Given the description of an element on the screen output the (x, y) to click on. 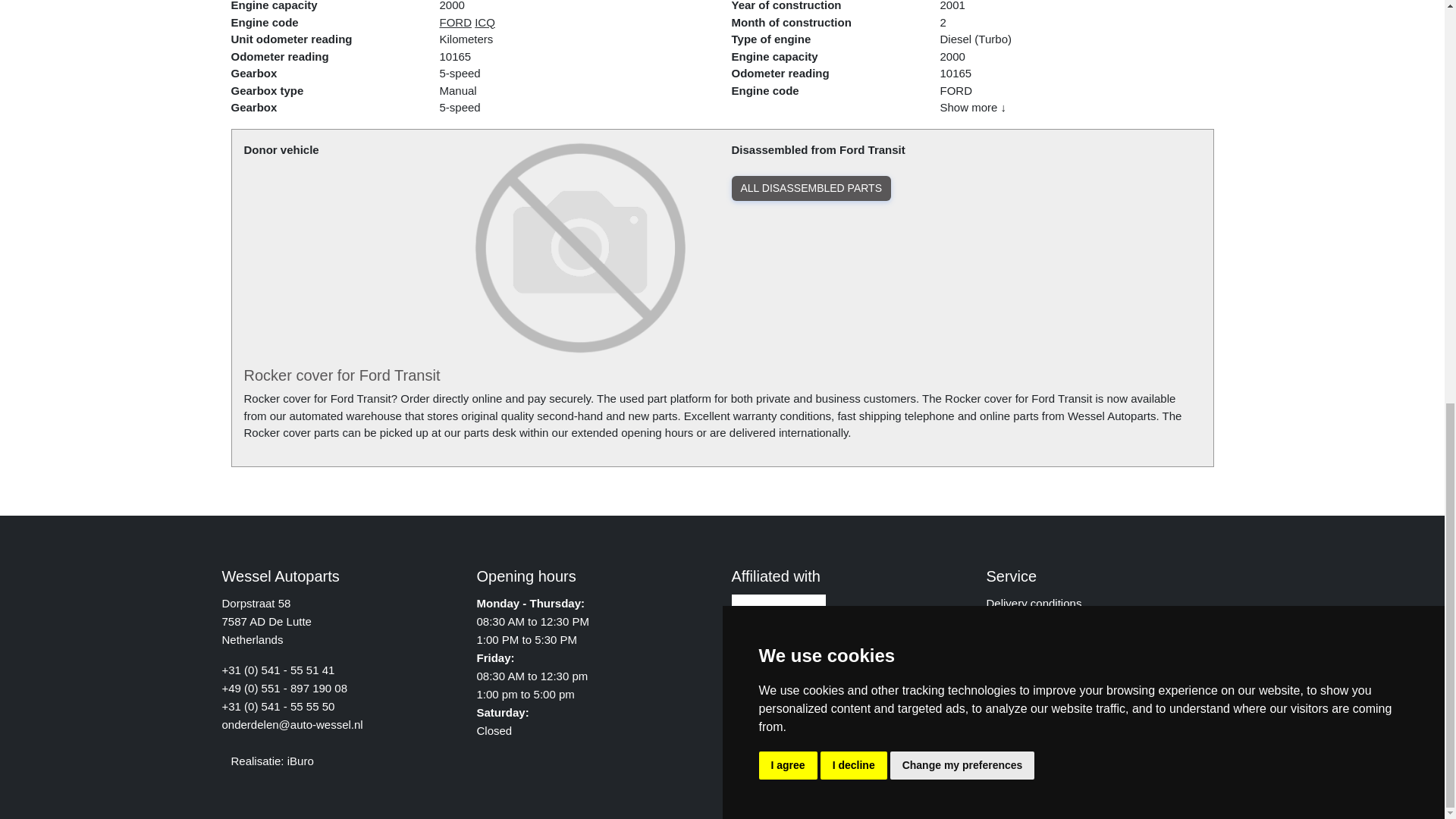
Terms and conditions (1039, 621)
ENG Stiba Algemene Verkoop En Leveringsvoorwaarden (1039, 621)
iBuro (300, 760)
FORD (455, 21)
ALL DISASSEMBLED PARTS (809, 188)
Rocker cover for Ford Transit (342, 375)
ICQ (484, 21)
Delivery conditions (1033, 603)
Shipping And Delivery Policy En (1033, 603)
